Given the description of an element on the screen output the (x, y) to click on. 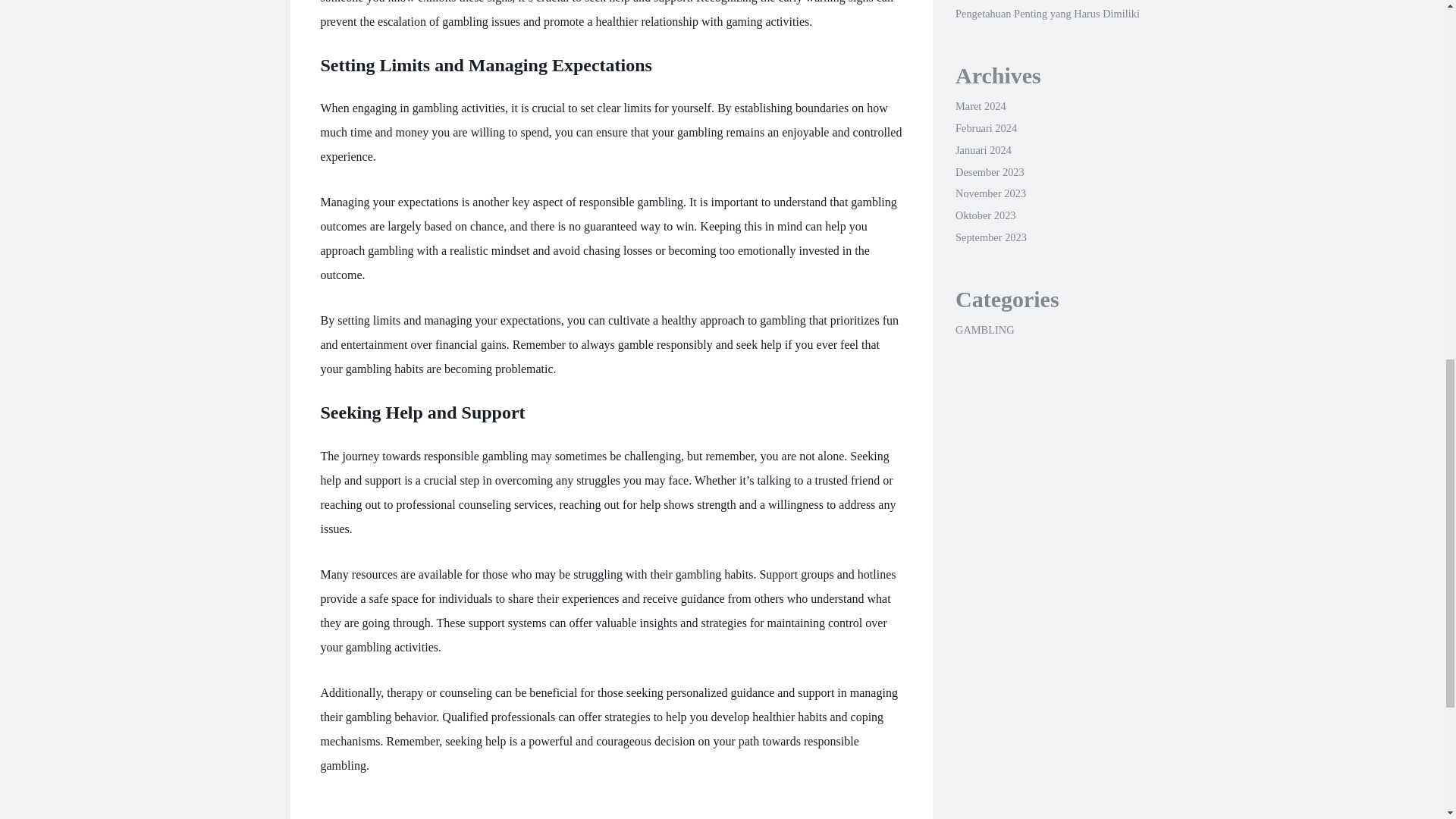
November 2023 (990, 193)
GAMBLING (984, 329)
September 2023 (990, 236)
Januari 2024 (983, 150)
Maret 2024 (980, 105)
Februari 2024 (985, 128)
Desember 2023 (990, 172)
Oktober 2023 (985, 215)
